Given the description of an element on the screen output the (x, y) to click on. 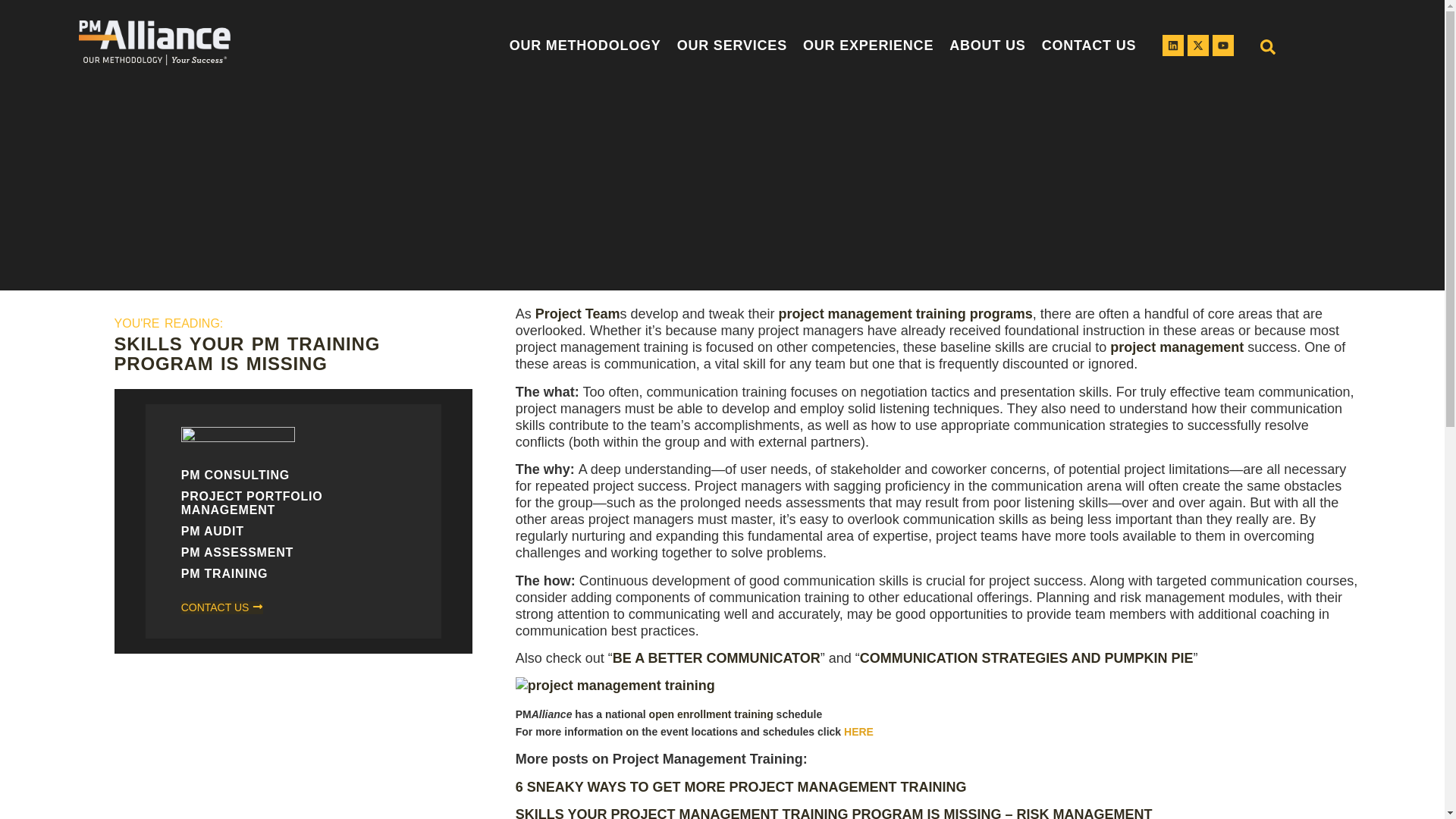
OUR SERVICES (735, 45)
OUR METHODOLOGY (587, 45)
Project Management Services (735, 45)
Project Management Methodology (587, 45)
